Given the description of an element on the screen output the (x, y) to click on. 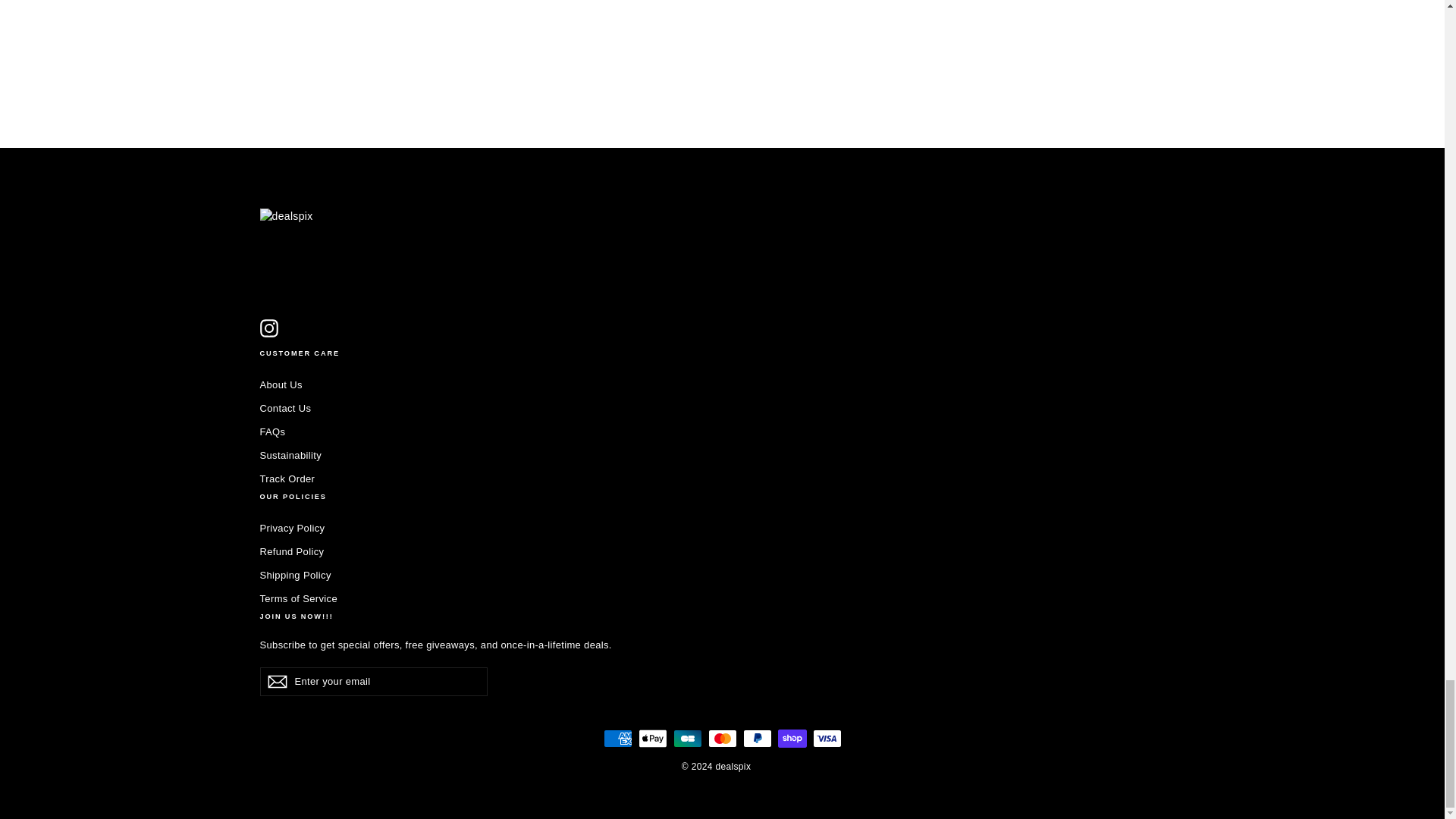
dealspix on Instagram (268, 328)
Shop Pay (791, 738)
Cartes Bancaires (686, 738)
PayPal (756, 738)
American Express (617, 738)
Mastercard (721, 738)
Apple Pay (652, 738)
Visa (826, 738)
